Given the description of an element on the screen output the (x, y) to click on. 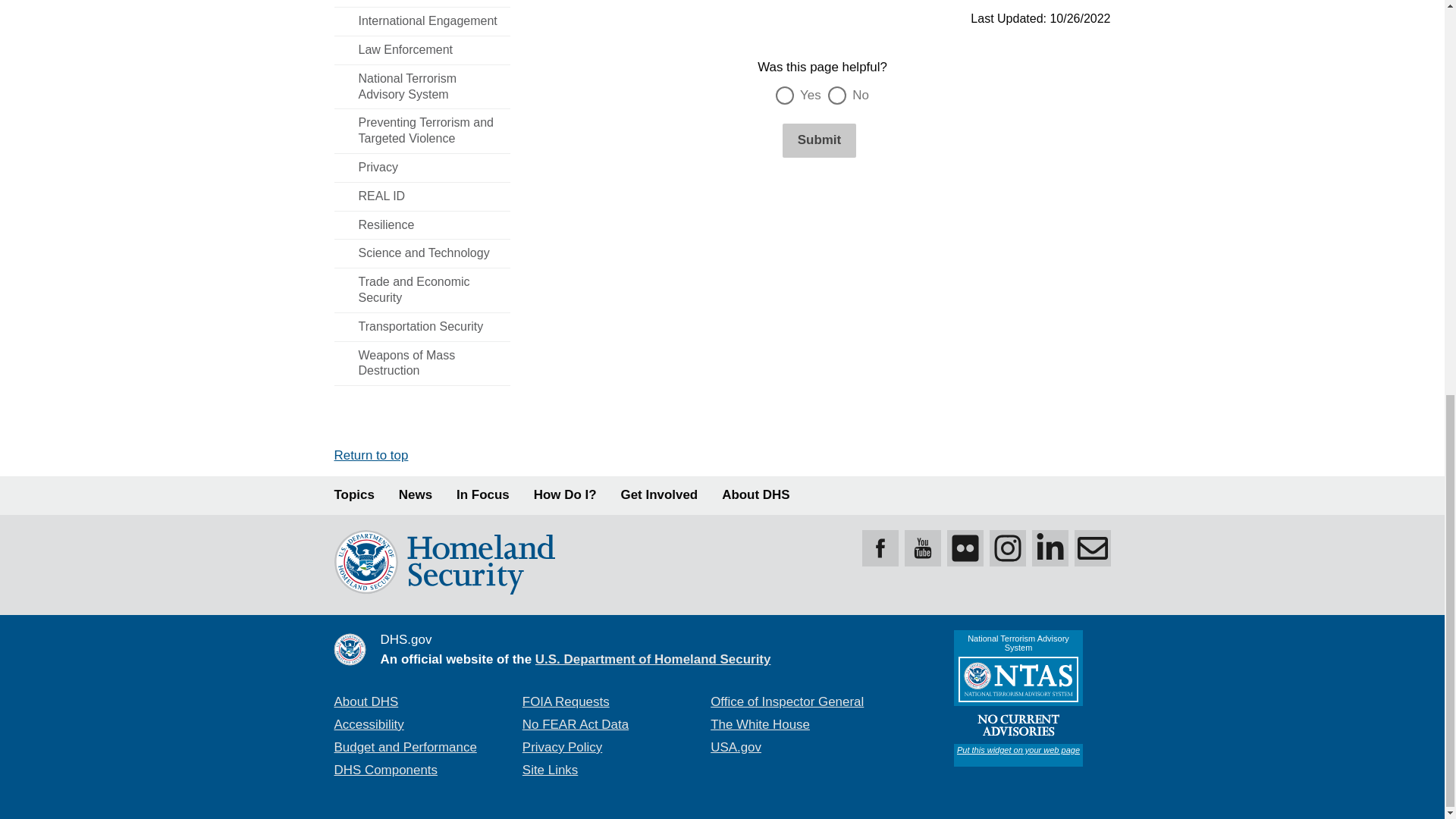
Submit (819, 140)
Transportation Security (421, 326)
Topics (353, 495)
REAL ID (421, 196)
Science and Technology (421, 253)
Office of the Inspector General (786, 701)
Submit (819, 140)
Law Enforcement (421, 50)
Preventing Terrorism and Targeted Violence (421, 130)
Trade and Economic Security (421, 290)
DHS Components (385, 769)
Privacy (421, 167)
Get Involved (659, 495)
USA.gov (735, 747)
Resilience (421, 225)
